Given the description of an element on the screen output the (x, y) to click on. 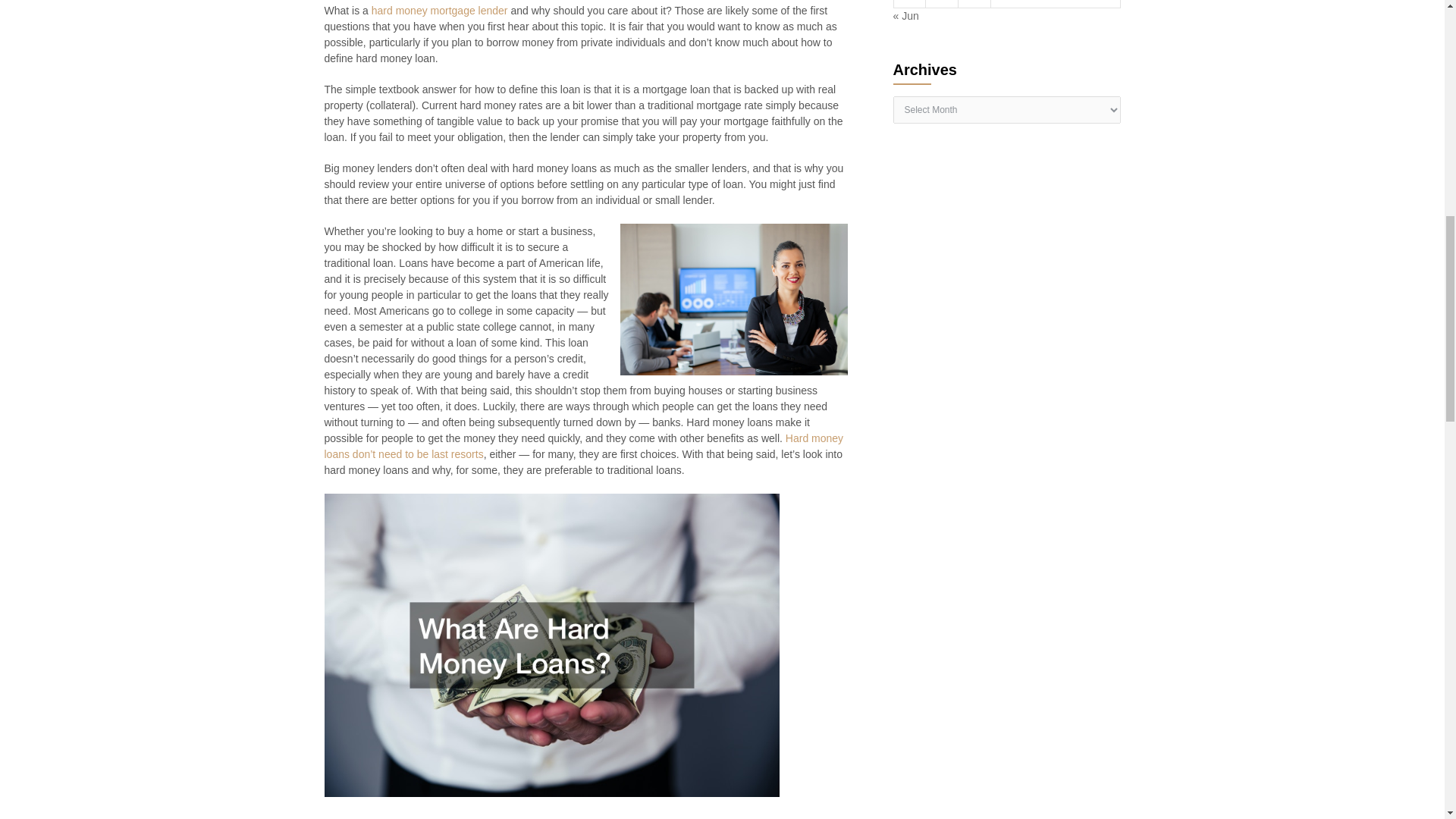
hard money mortgage lender (439, 10)
more (584, 446)
